Given the description of an element on the screen output the (x, y) to click on. 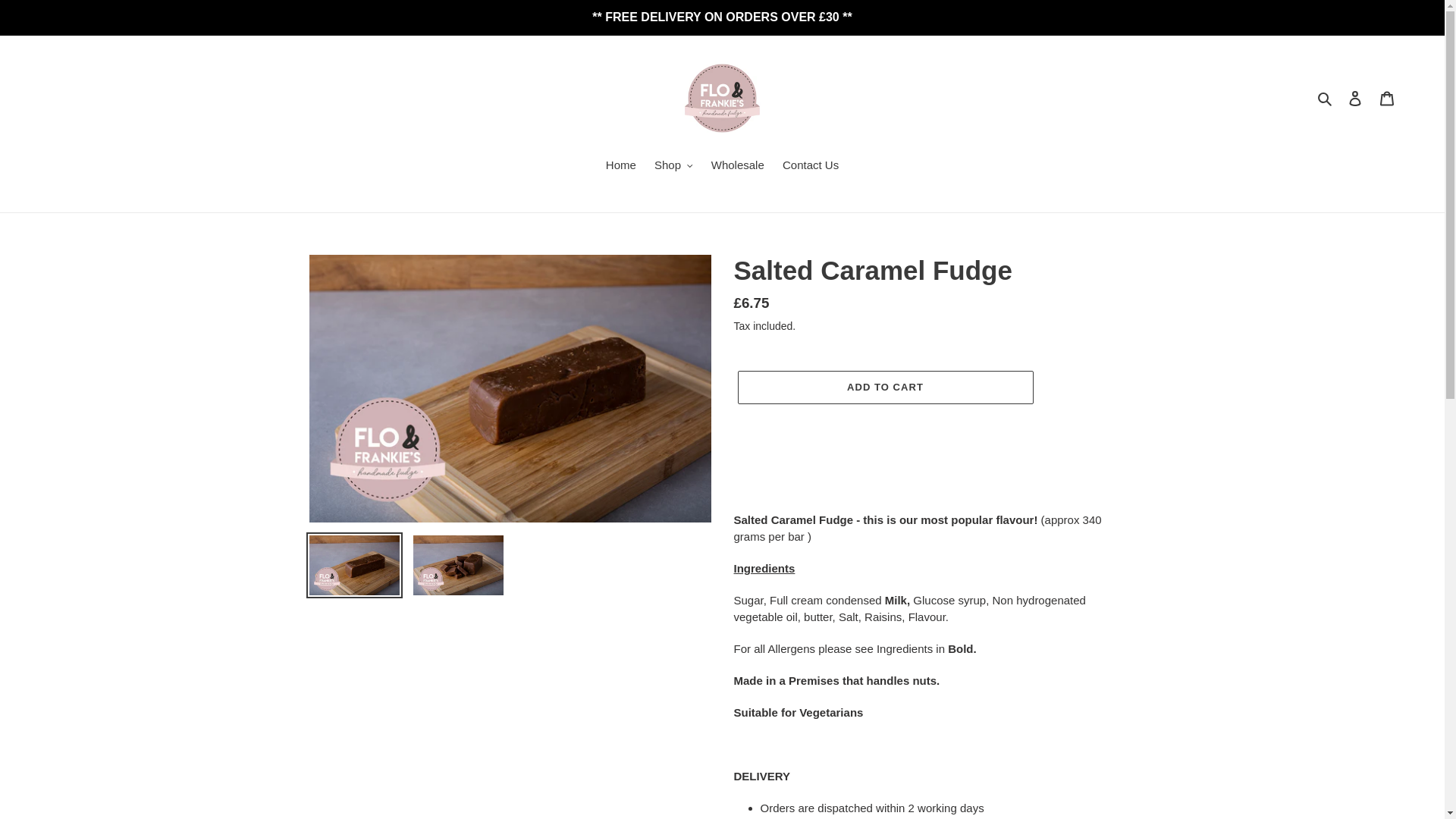
Search (1326, 97)
Contact Us (809, 166)
Log in (1355, 97)
Wholesale (737, 166)
Cart (1387, 97)
Home (620, 166)
ADD TO CART (884, 387)
Shop (673, 166)
